Given the description of an element on the screen output the (x, y) to click on. 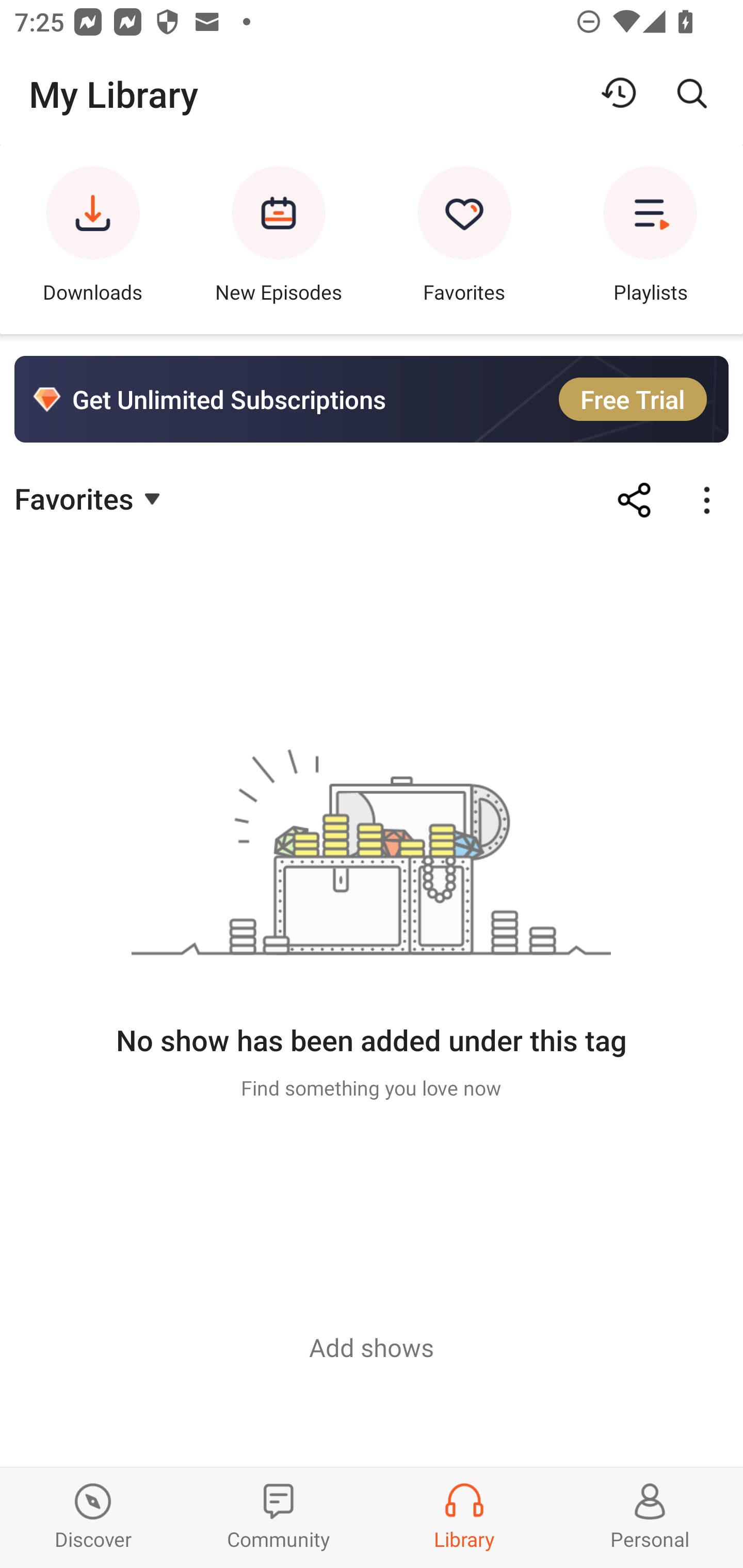
Downloads (92, 238)
New Episodes (278, 238)
Favorites (464, 238)
Playlists (650, 238)
Get Unlimited Subscriptions Free Trial (371, 398)
Free Trial (632, 398)
Favorites (90, 497)
Add shows (371, 1346)
Discover (92, 1517)
Community (278, 1517)
Library (464, 1517)
Profiles and Settings Personal (650, 1517)
